Given the description of an element on the screen output the (x, y) to click on. 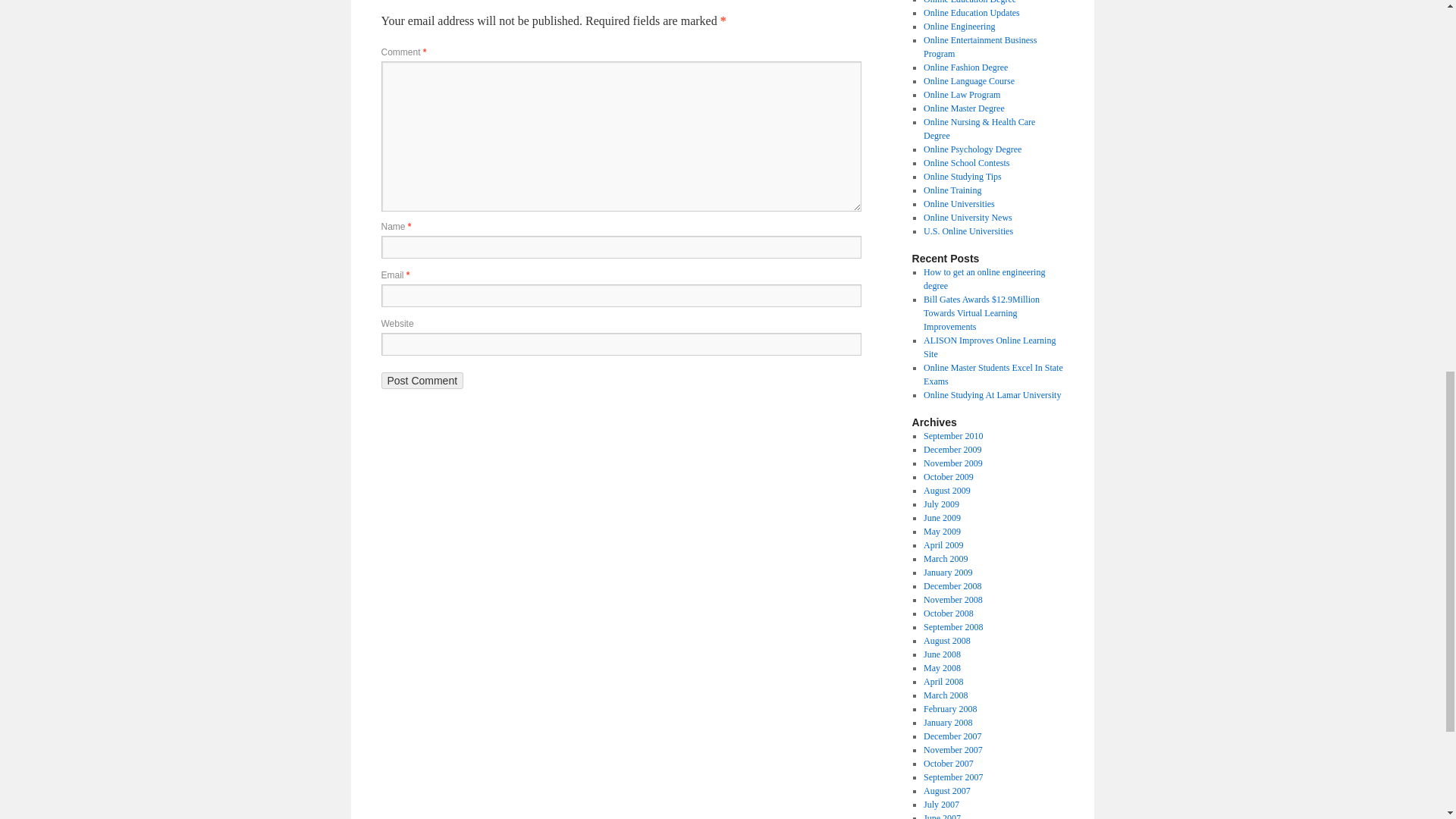
Post Comment (421, 380)
Post Comment (421, 380)
